Given the description of an element on the screen output the (x, y) to click on. 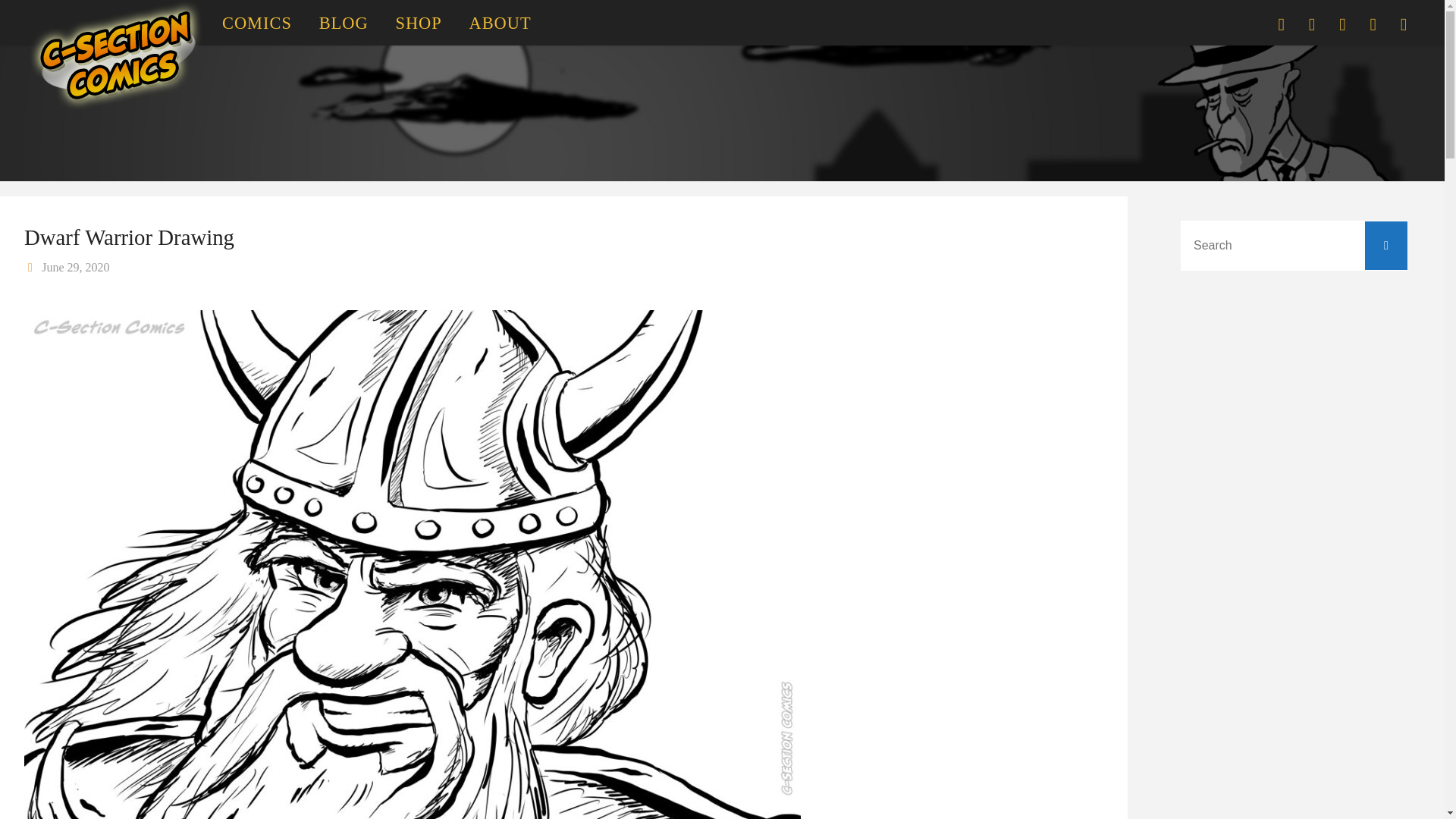
Date (31, 267)
ABOUT (499, 22)
SHOP (418, 22)
C-Section Comics (115, 53)
BLOG (343, 22)
Advertisement (662, 110)
COMICS (256, 22)
